Given the description of an element on the screen output the (x, y) to click on. 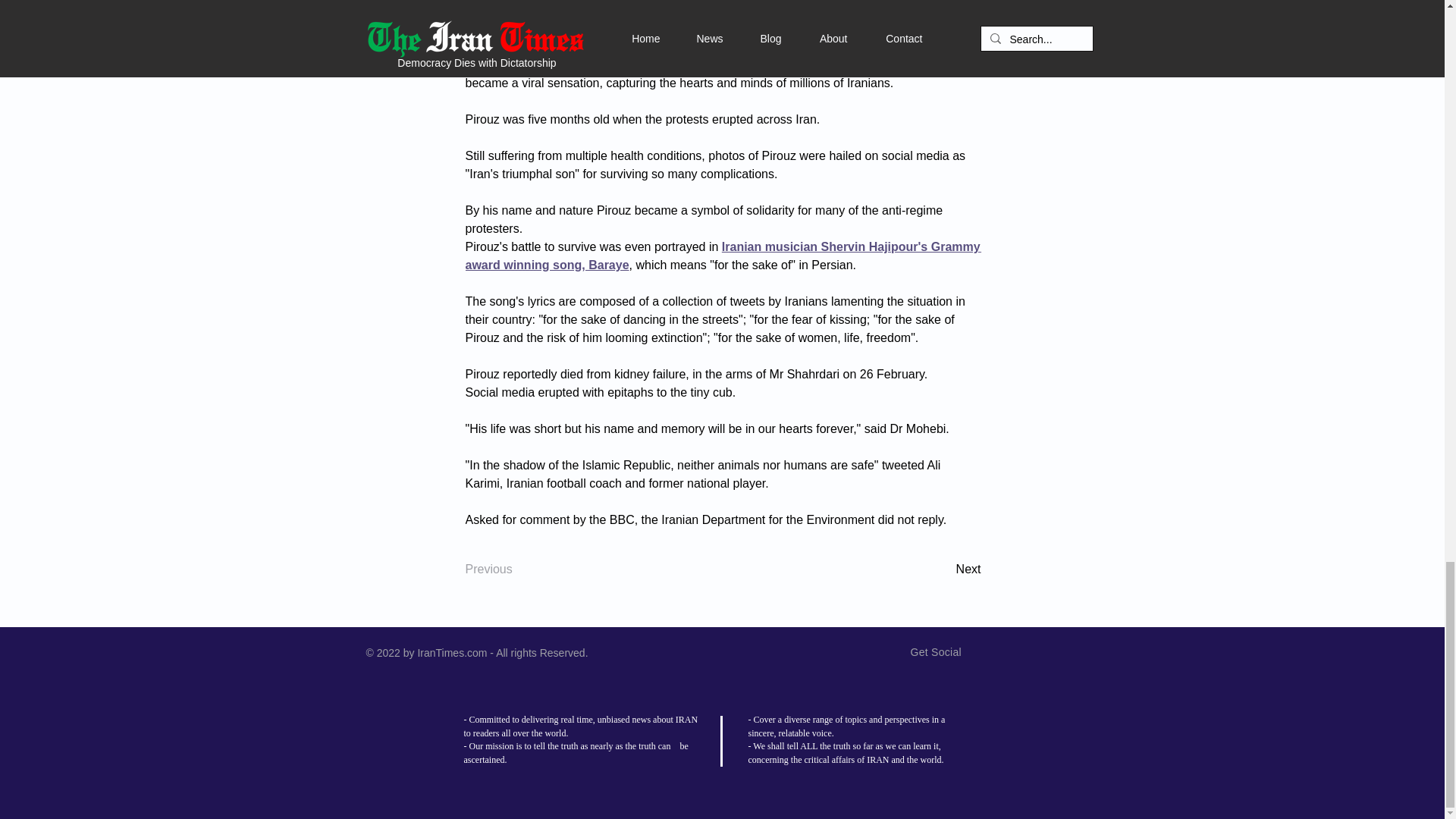
Next (943, 570)
Previous (515, 570)
